Given the description of an element on the screen output the (x, y) to click on. 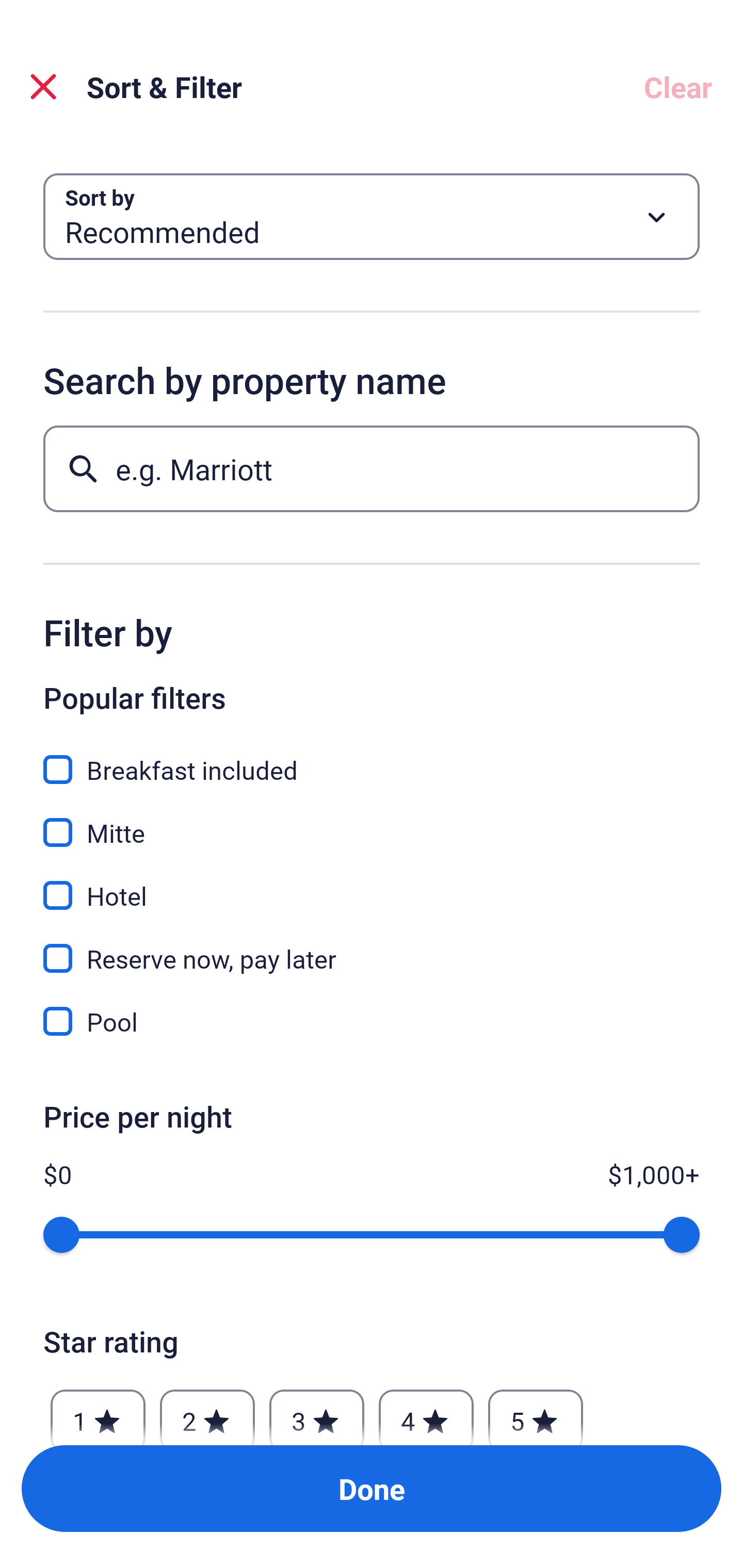
Close Sort and Filter (43, 86)
Clear (677, 86)
Sort by Button Recommended (371, 217)
e.g. Marriott Button (371, 468)
Breakfast included, Breakfast included (371, 757)
Mitte, Mitte (371, 821)
Hotel, Hotel (371, 883)
Reserve now, pay later, Reserve now, pay later (371, 946)
Pool, Pool (371, 1021)
1 (97, 1411)
2 (206, 1411)
3 (316, 1411)
4 (426, 1411)
5 (535, 1411)
Apply and close Sort and Filter Done (371, 1488)
